Given the description of an element on the screen output the (x, y) to click on. 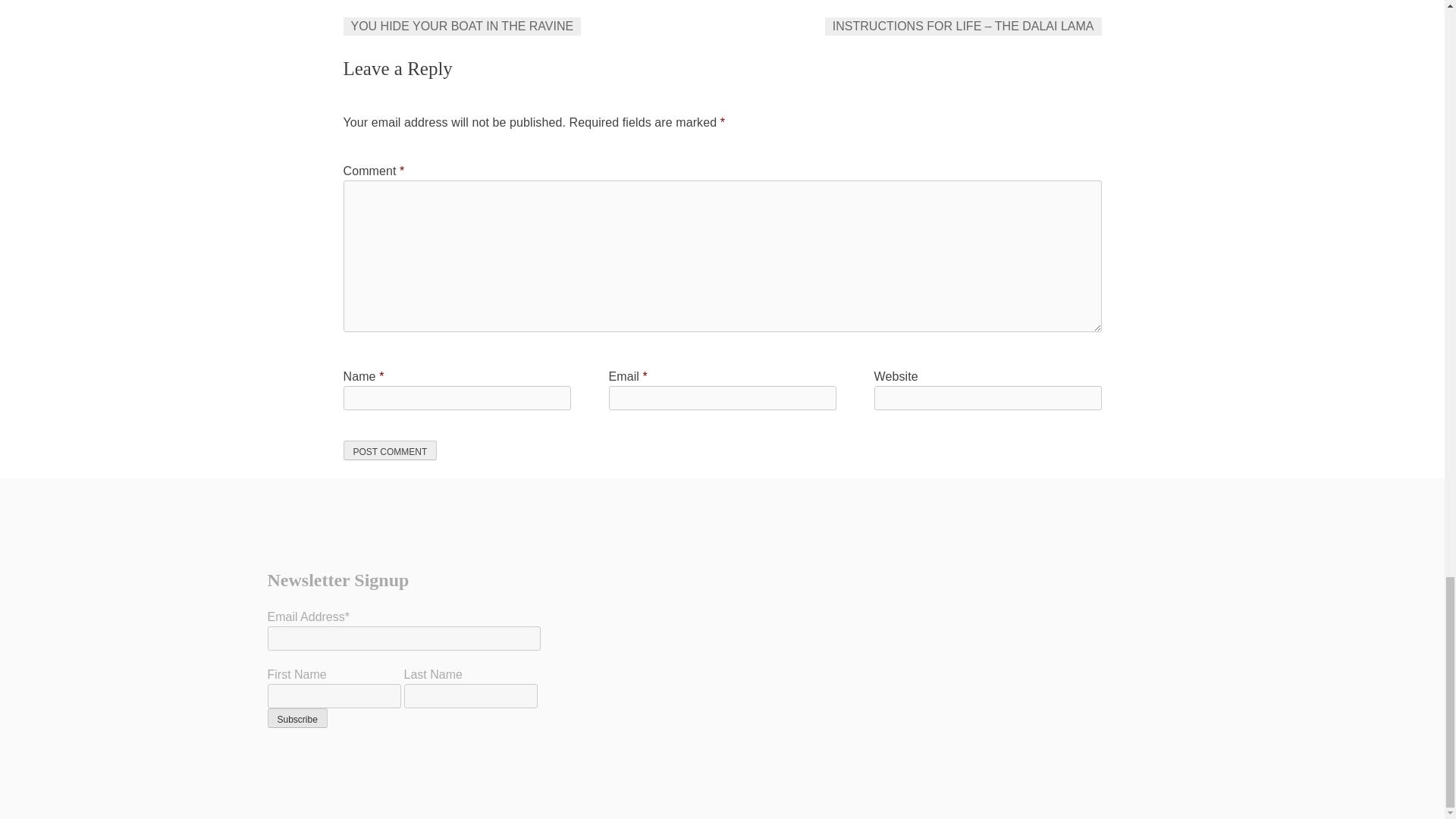
Subscribe (296, 718)
Post Comment (389, 450)
Subscribe (296, 718)
YOU HIDE YOUR BOAT IN THE RAVINE (461, 25)
Post Comment (389, 450)
